Given the description of an element on the screen output the (x, y) to click on. 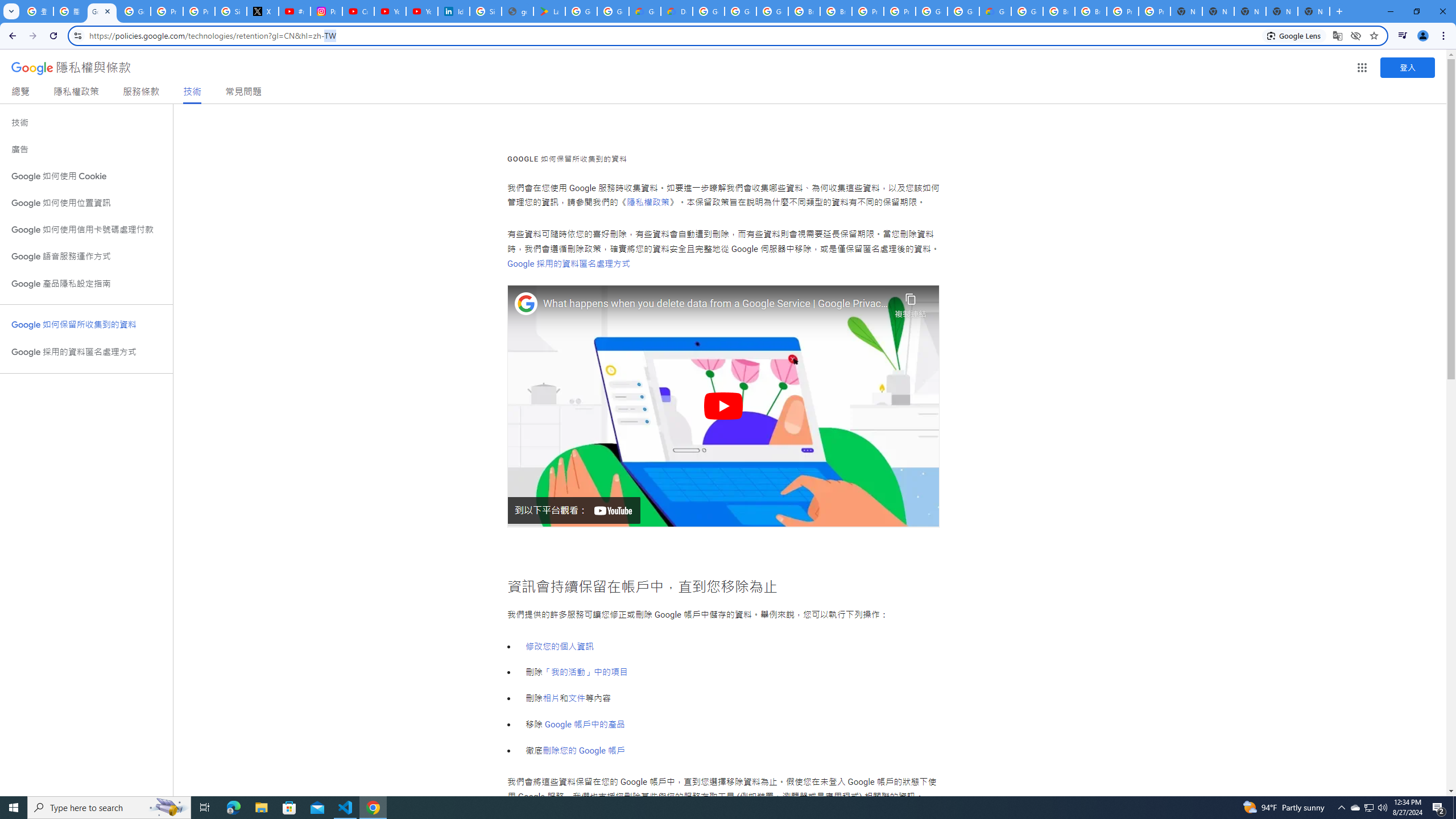
X (262, 11)
Control your music, videos, and more (1402, 35)
Forward (32, 35)
Google Cloud Estimate Summary (995, 11)
